Given the description of an element on the screen output the (x, y) to click on. 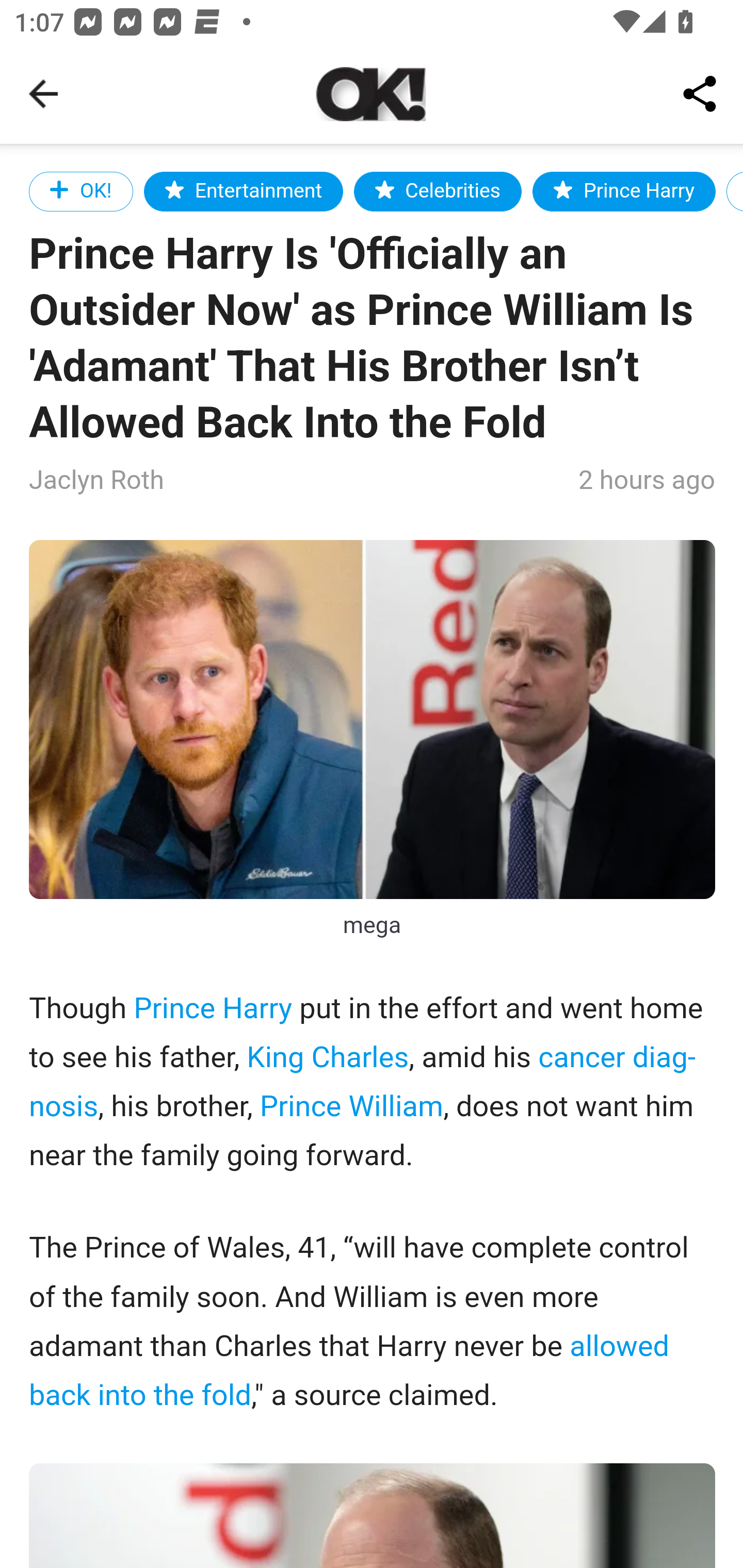
OK! (80, 191)
Entertainment (243, 191)
Celebrities (437, 191)
Prince Harry (623, 191)
Prince Harry (212, 1009)
cancer diagnosis (362, 1082)
King Charles (327, 1057)
Prince William (350, 1106)
allowed back into the fold (348, 1371)
